Given the description of an element on the screen output the (x, y) to click on. 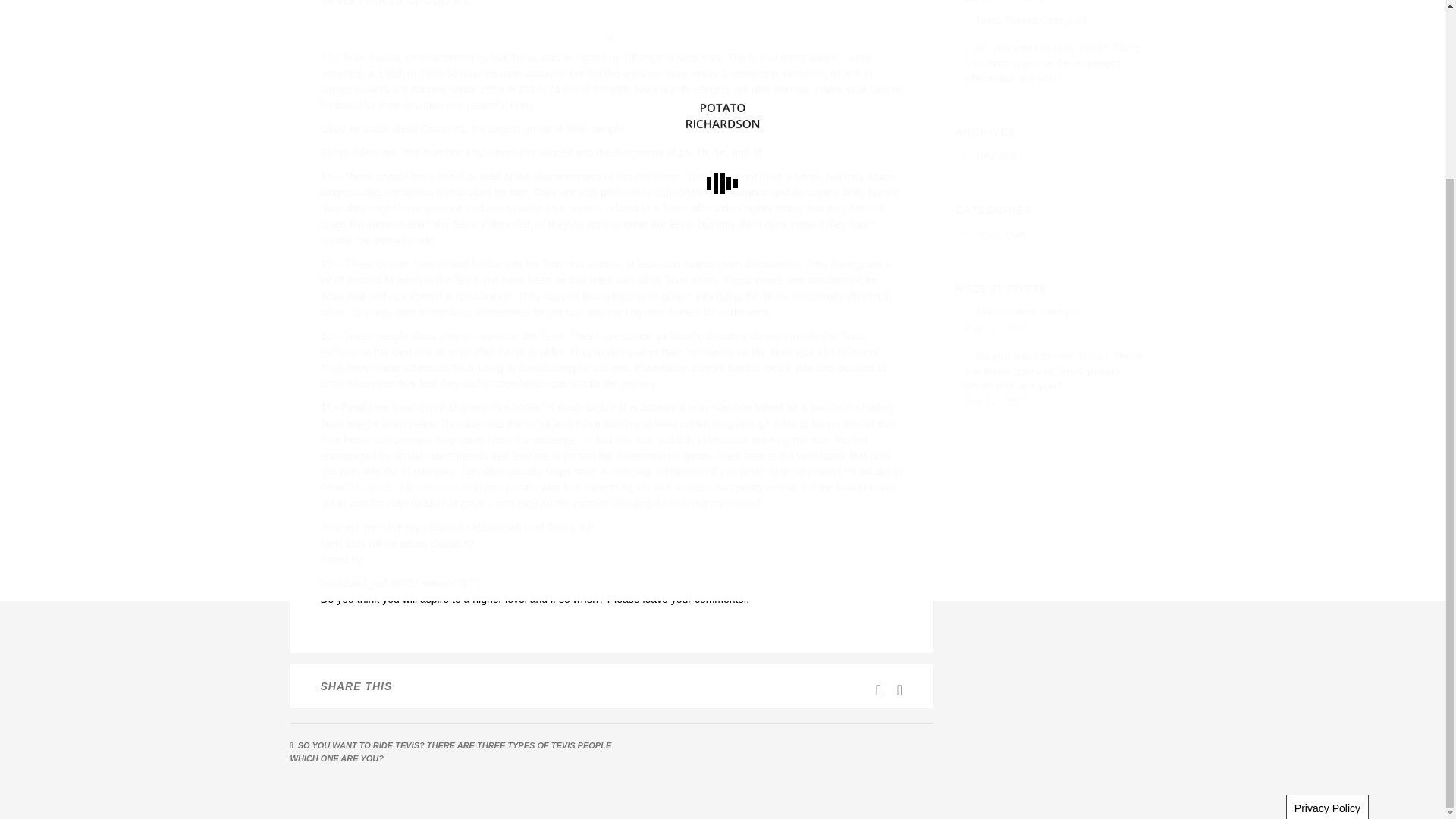
July 2017 (1000, 155)
TEVIS CUP (999, 234)
